Given the description of an element on the screen output the (x, y) to click on. 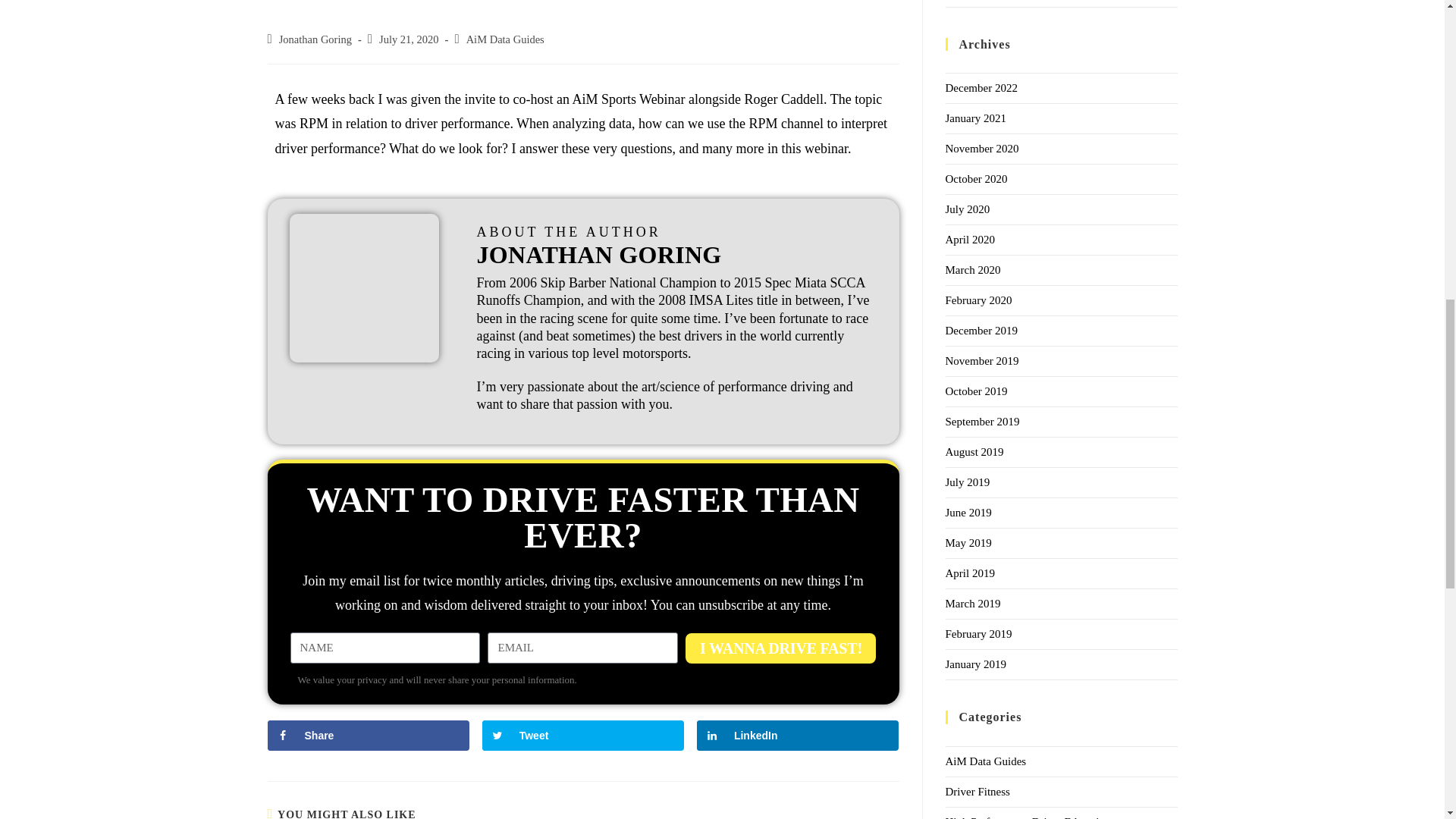
Share on Twitter (582, 735)
December 2019 (980, 330)
July 2020 (967, 209)
Jonathan Goring (315, 39)
December 2022 (980, 87)
LinkedIn (798, 735)
Posts by Jonathan Goring (315, 39)
Share (367, 735)
Tweet (582, 735)
January 2021 (975, 118)
